Given the description of an element on the screen output the (x, y) to click on. 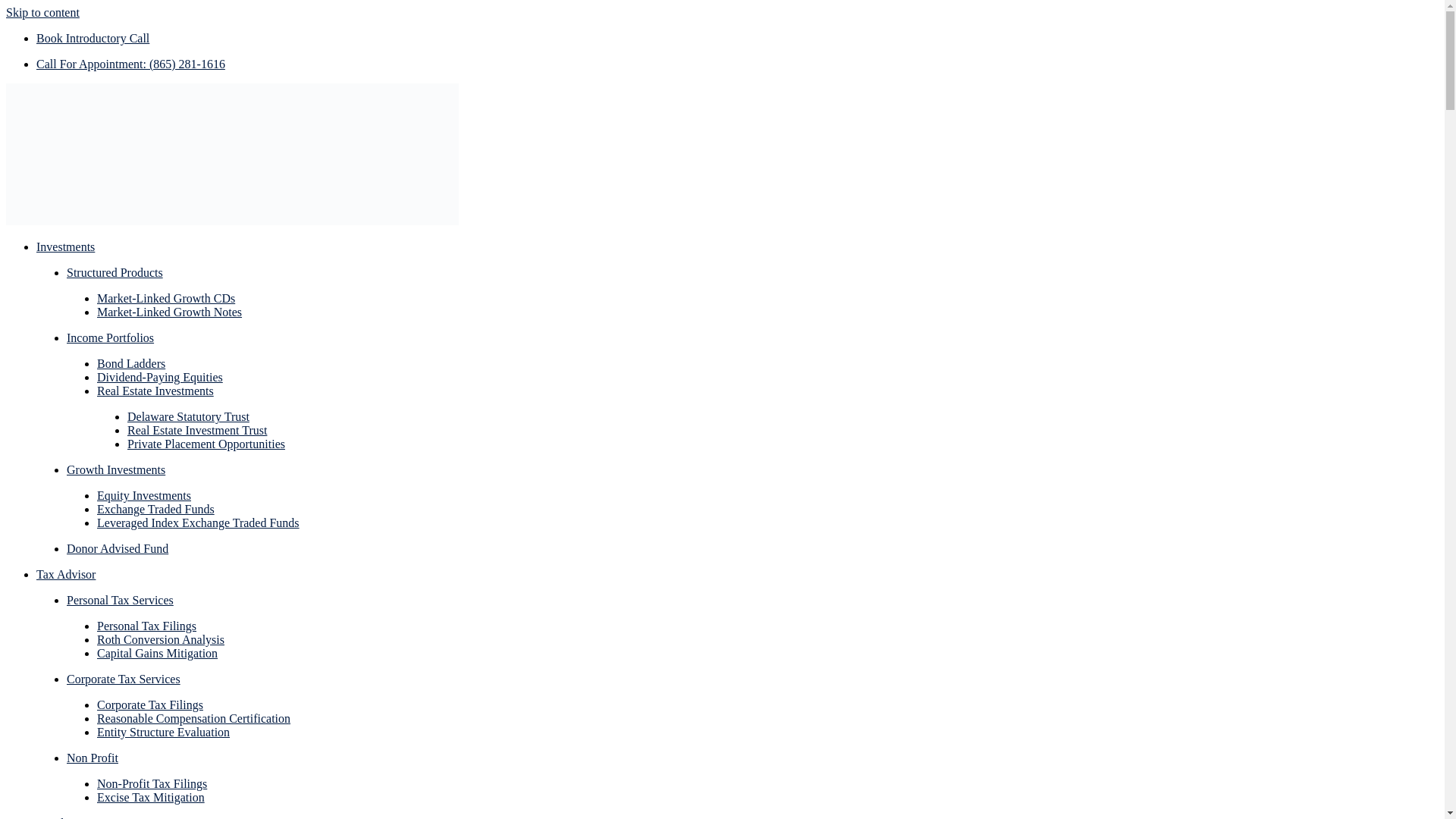
Corporate Tax Filings (150, 704)
Skip to content (42, 11)
Personal Tax Services (119, 599)
Leveraged Index Exchange Traded Funds (198, 522)
Market-Linked Growth CDs (165, 297)
Roth Conversion Analysis (160, 639)
Dividend-Paying Equities (159, 377)
Market-Linked Growth Notes (169, 311)
Tax Advisor (66, 574)
Real Estate Investments (155, 390)
Excise Tax Mitigation (151, 797)
Private Placement Opportunities (206, 443)
Exchange Traded Funds (155, 508)
Income Portfolios (110, 337)
Investments (65, 246)
